Given the description of an element on the screen output the (x, y) to click on. 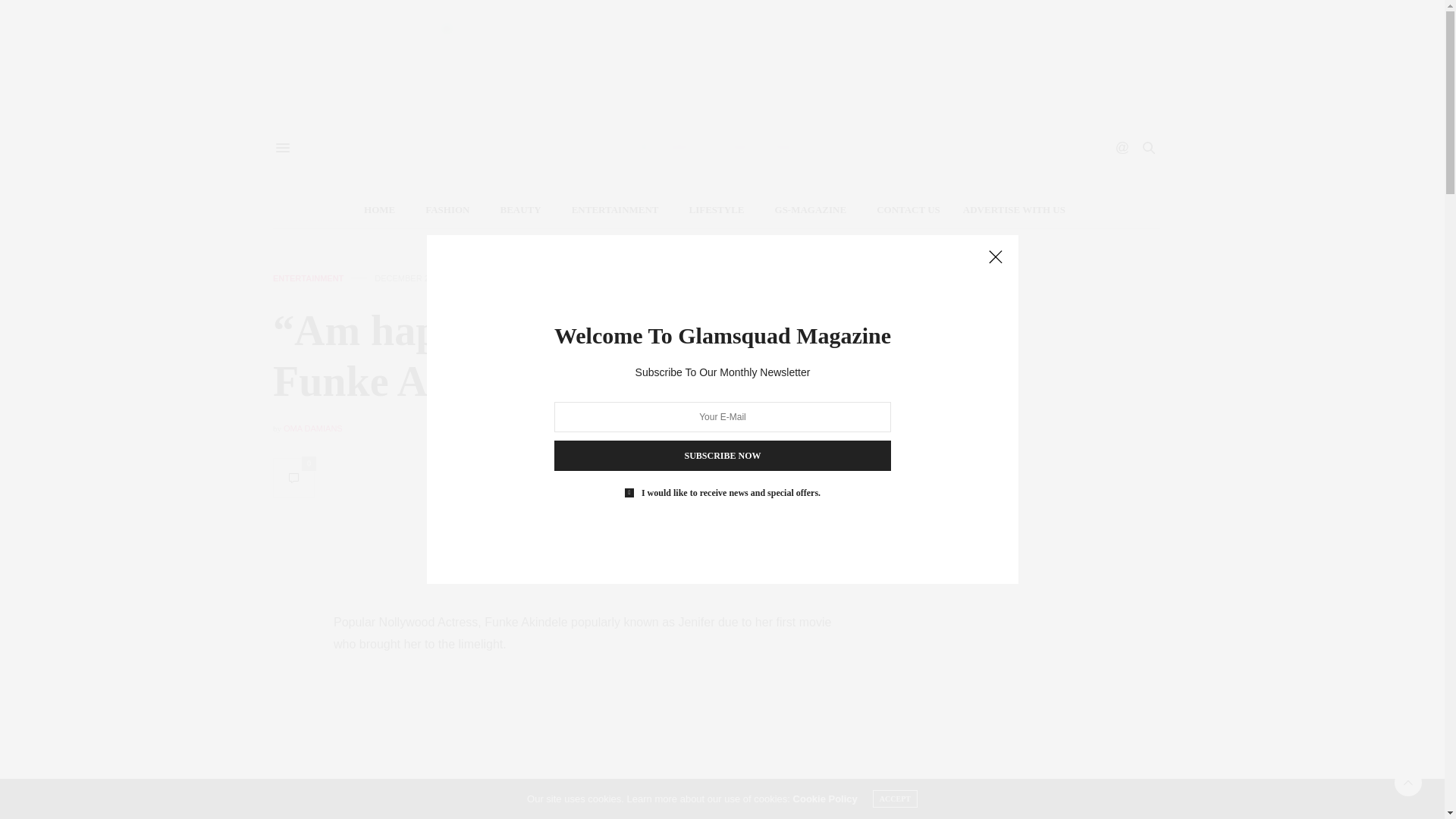
ENTERTAINMENT (308, 278)
LIFESTYLE (712, 209)
ADVERTISE WITH US (1013, 209)
BEAUTY (516, 209)
FASHION (442, 209)
SUBSCRIBE NOW (721, 455)
ENTERTAINMENT (611, 209)
CONTACT US (904, 209)
GS-MAGAZINE (807, 209)
Posts by Oma Damians (312, 428)
HOME (375, 209)
0 (293, 477)
GLAMSQUAD MAGAZINE (716, 147)
OMA DAMIANS (312, 428)
